Given the description of an element on the screen output the (x, y) to click on. 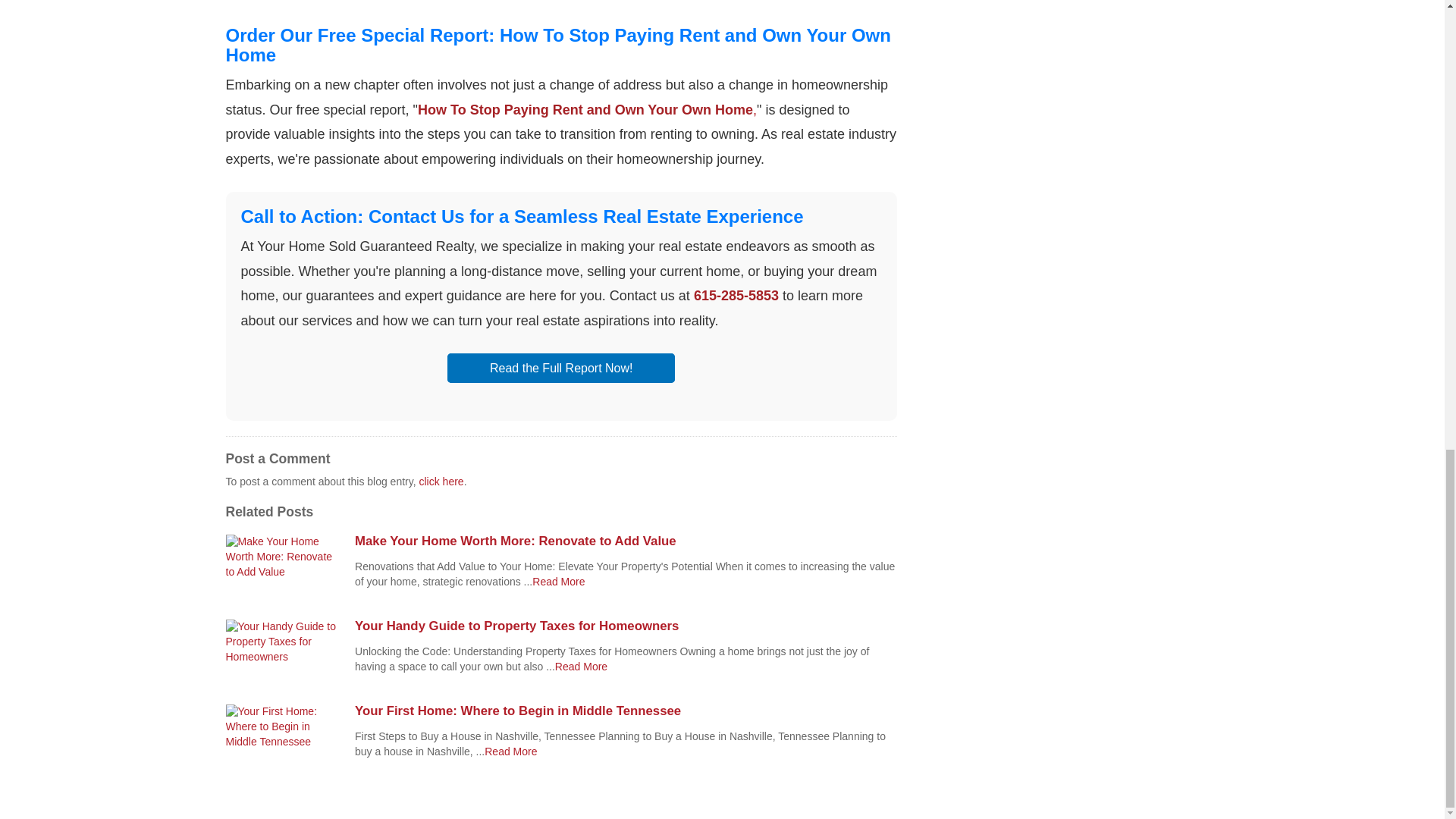
Making a Long-Distance Move: What You Need to Know (510, 751)
Your First Home: Where to Begin in Middle Tennessee (625, 711)
Making a Long-Distance Move: What You Need to Know (558, 581)
Your Handy Guide to Property Taxes for Homeowners (625, 626)
Make Your Home Worth More: Renovate to Add Value (625, 540)
Making a Long-Distance Move: What You Need to Know (580, 666)
